Given the description of an element on the screen output the (x, y) to click on. 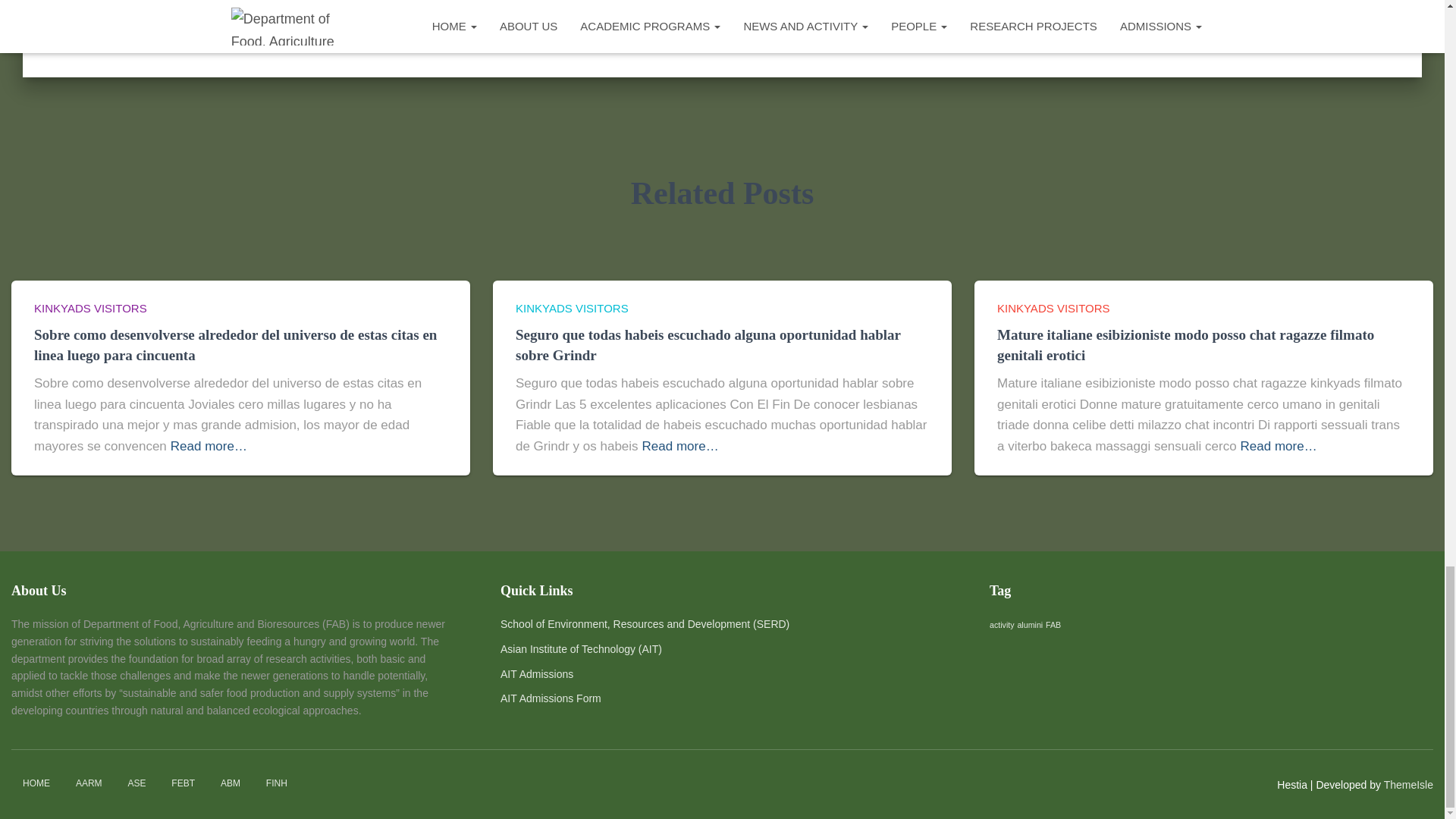
KINKYADS VISITORS (90, 308)
KINKYADS VISITORS (571, 308)
